Given the description of an element on the screen output the (x, y) to click on. 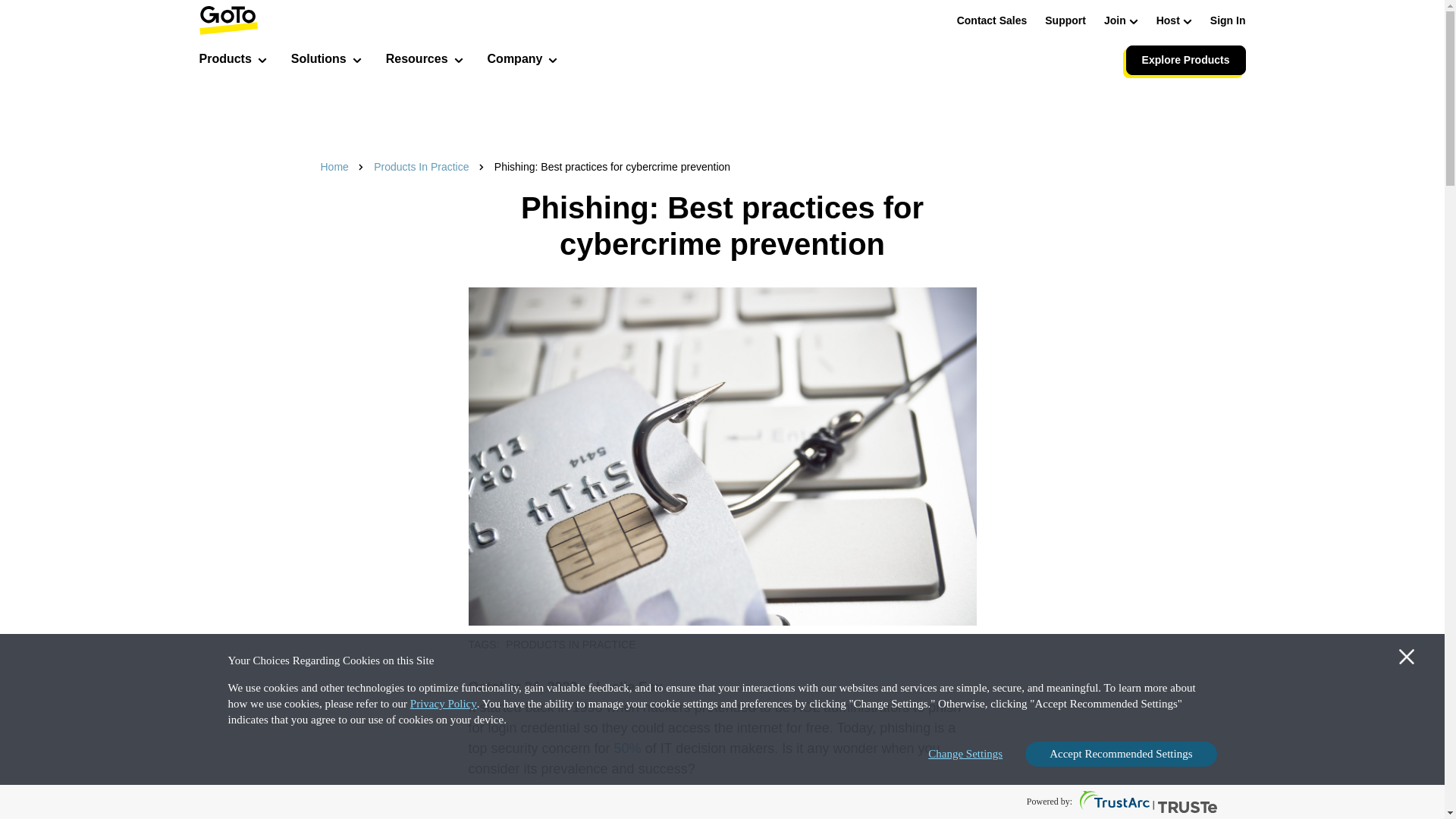
Products (232, 61)
Solutions (326, 61)
